Given the description of an element on the screen output the (x, y) to click on. 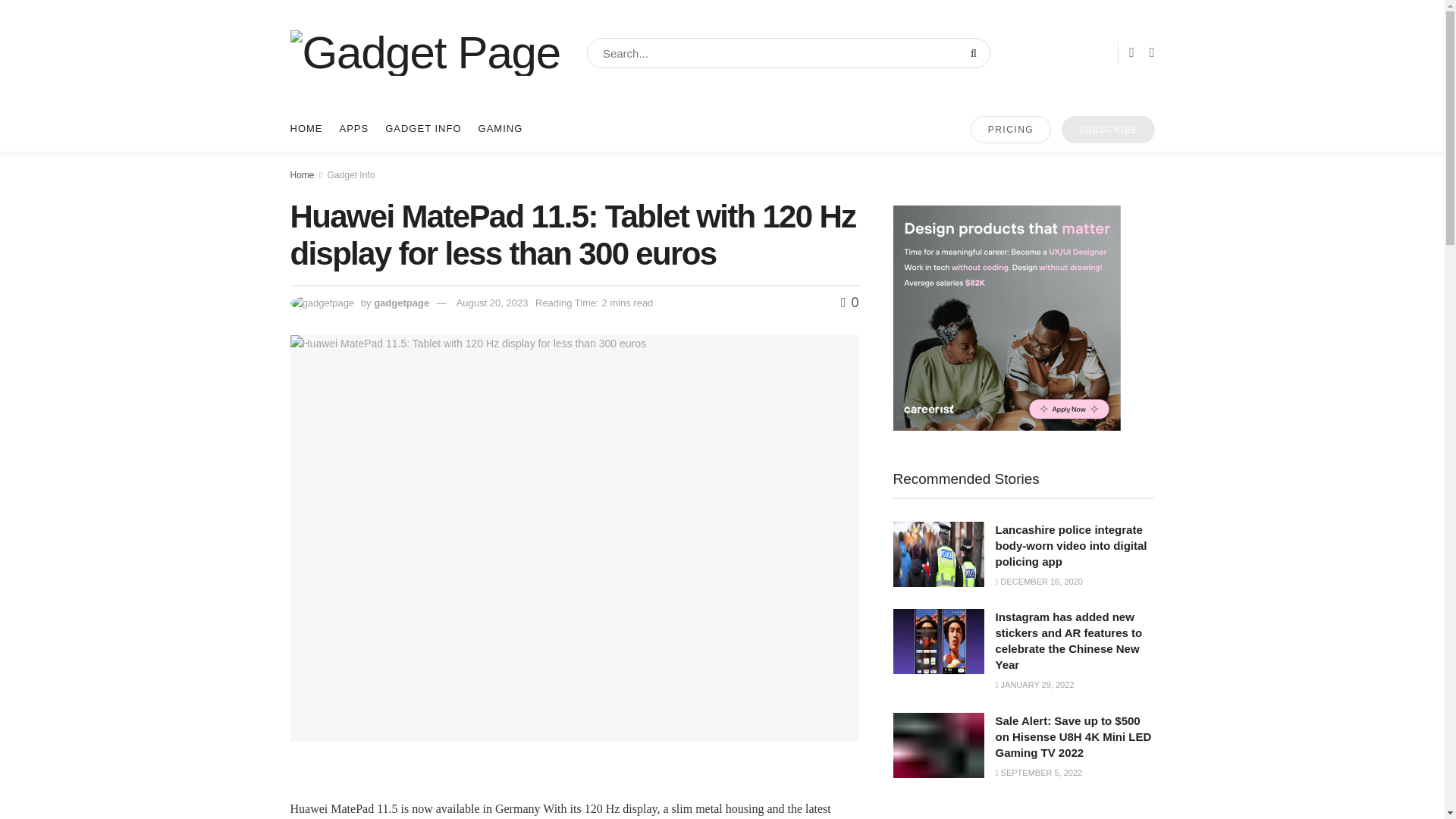
HOME (305, 128)
APPS (354, 128)
GAMING (500, 128)
PRICING (1011, 129)
SUBSCRIBE (1107, 129)
0 (850, 302)
gadgetpage (401, 302)
Home (301, 174)
GADGET INFO (423, 128)
Gadget Info (351, 174)
August 20, 2023 (492, 302)
